Given the description of an element on the screen output the (x, y) to click on. 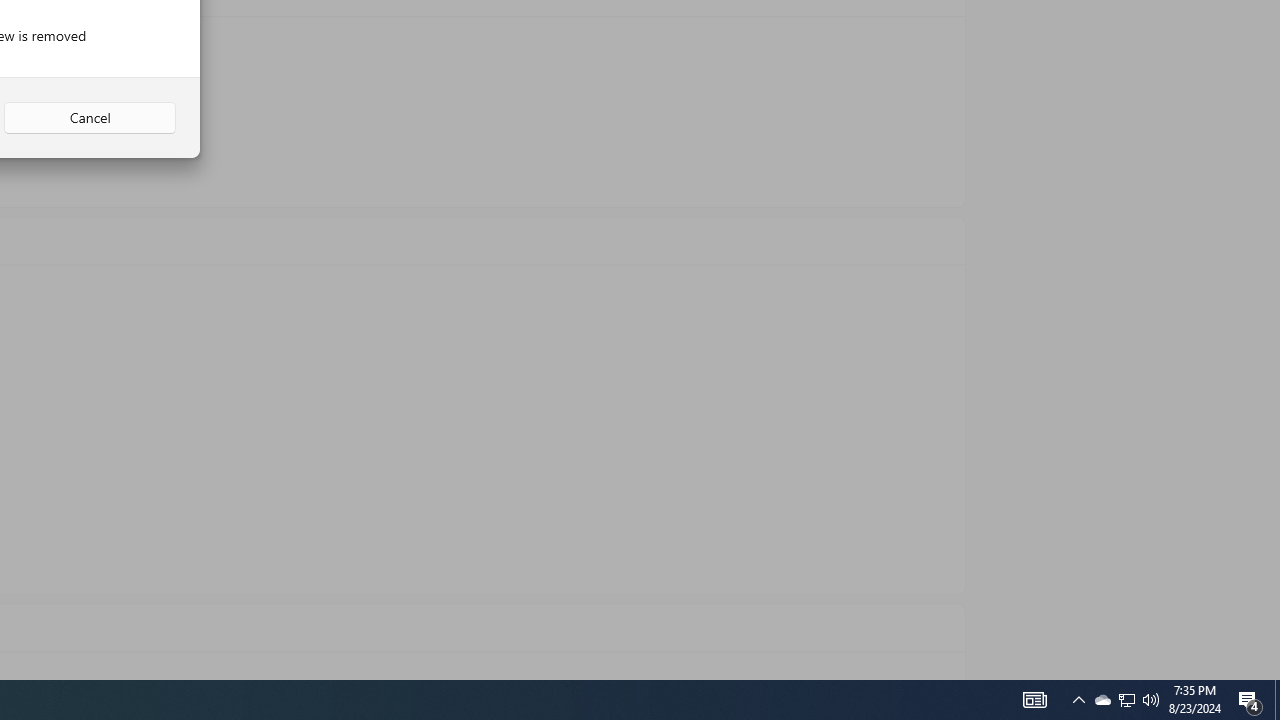
Cancel (89, 117)
